Given the description of an element on the screen output the (x, y) to click on. 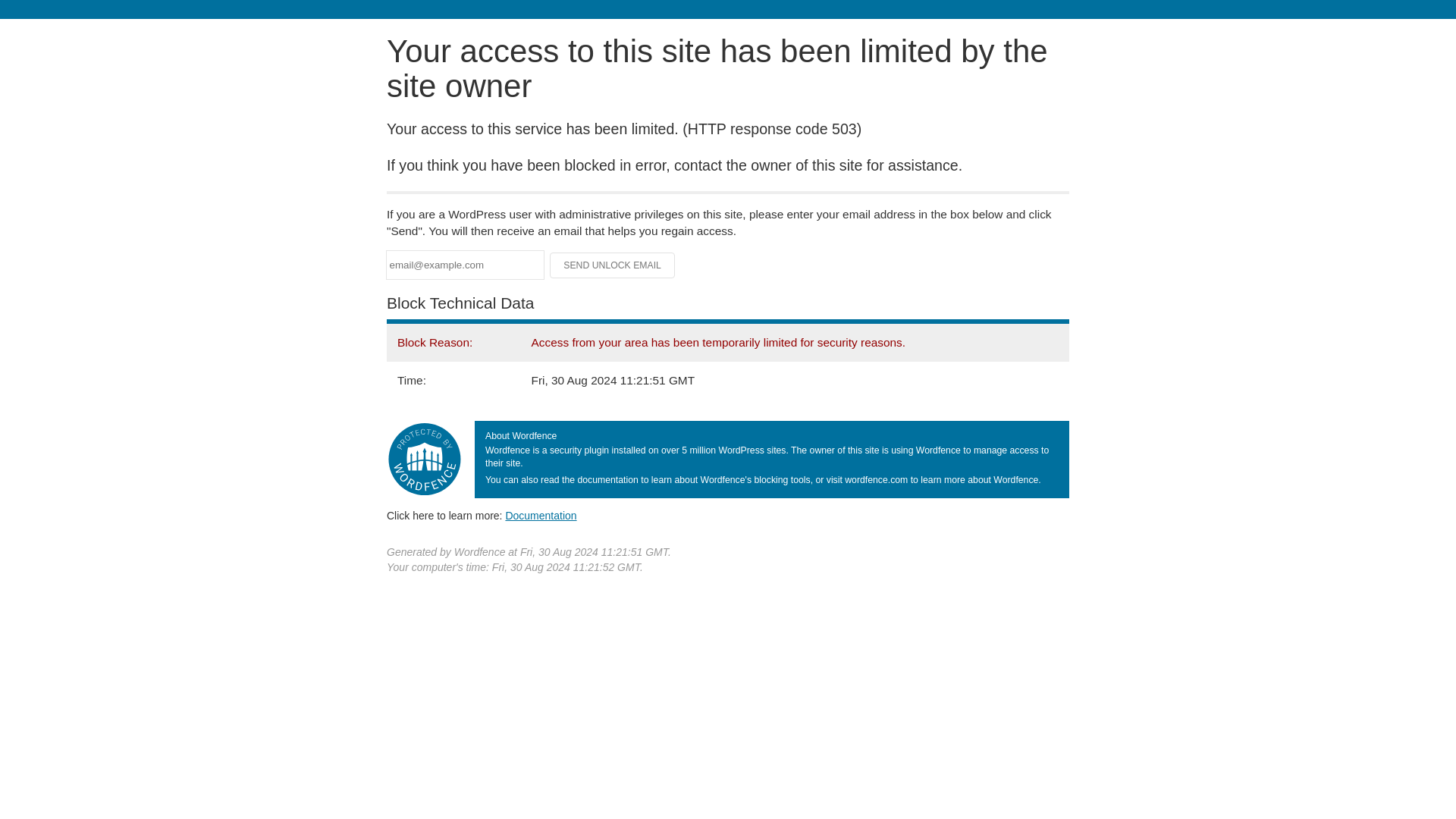
Documentation (540, 515)
Send Unlock Email (612, 265)
Send Unlock Email (612, 265)
